Given the description of an element on the screen output the (x, y) to click on. 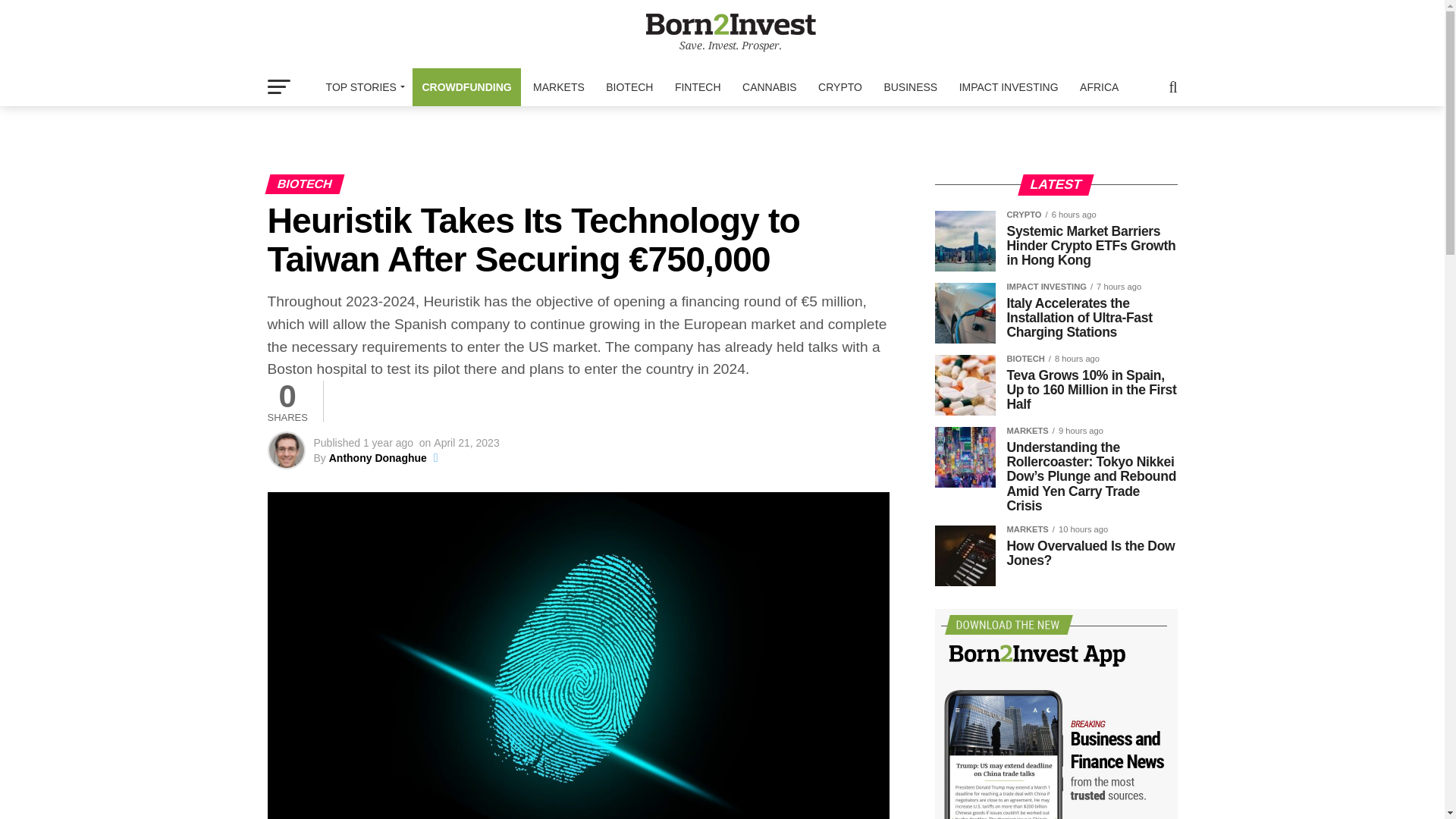
CANNABIS (769, 86)
Anthony Donaghue (377, 458)
TOP STORIES (363, 86)
Posts by Anthony Donaghue (377, 458)
MARKETS (559, 86)
CRYPTO (839, 86)
FINTECH (697, 86)
IMPACT INVESTING (1008, 86)
CROWDFUNDING (465, 86)
AFRICA (1098, 86)
